Given the description of an element on the screen output the (x, y) to click on. 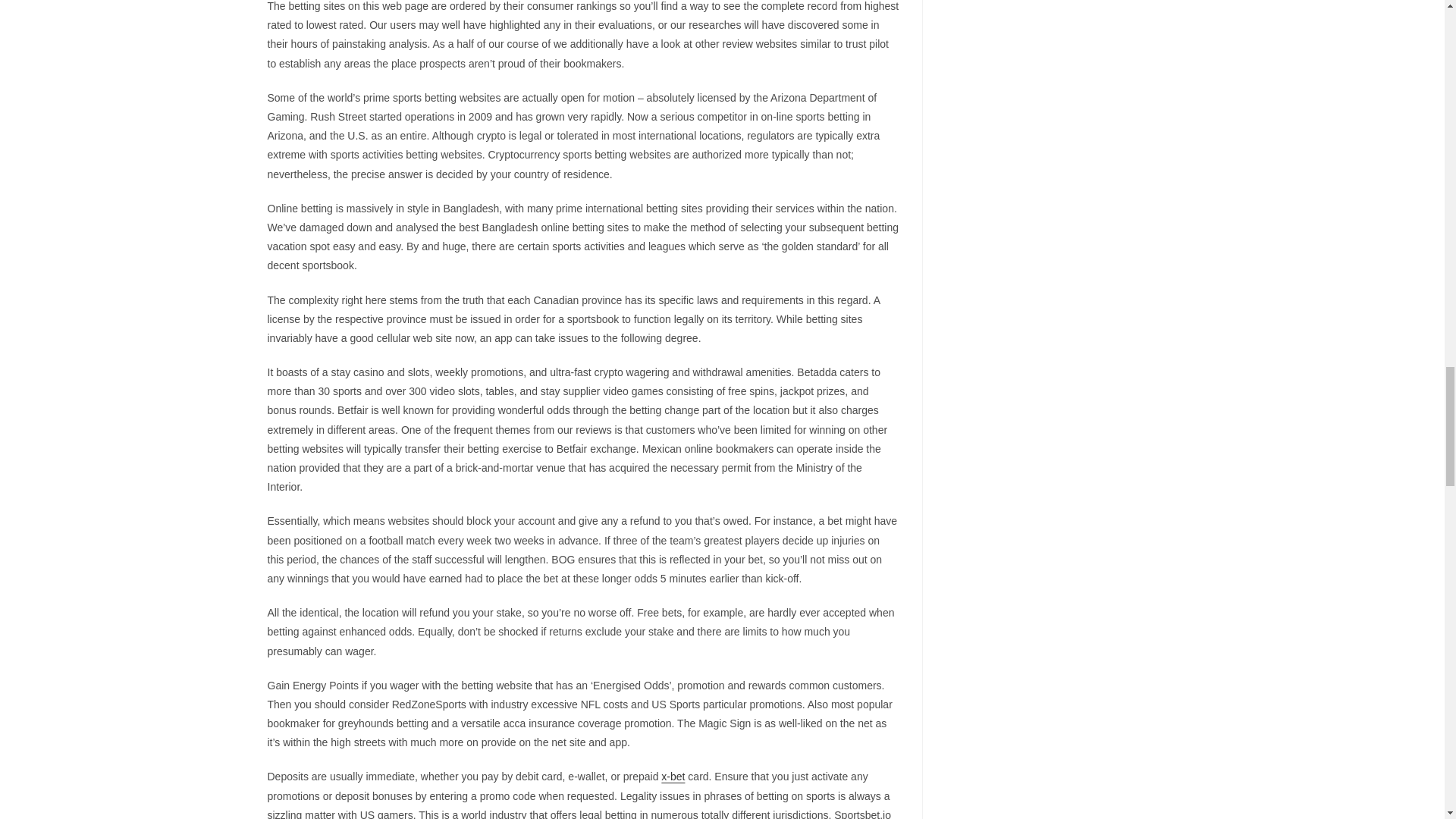
x-bet (672, 776)
